Given the description of an element on the screen output the (x, y) to click on. 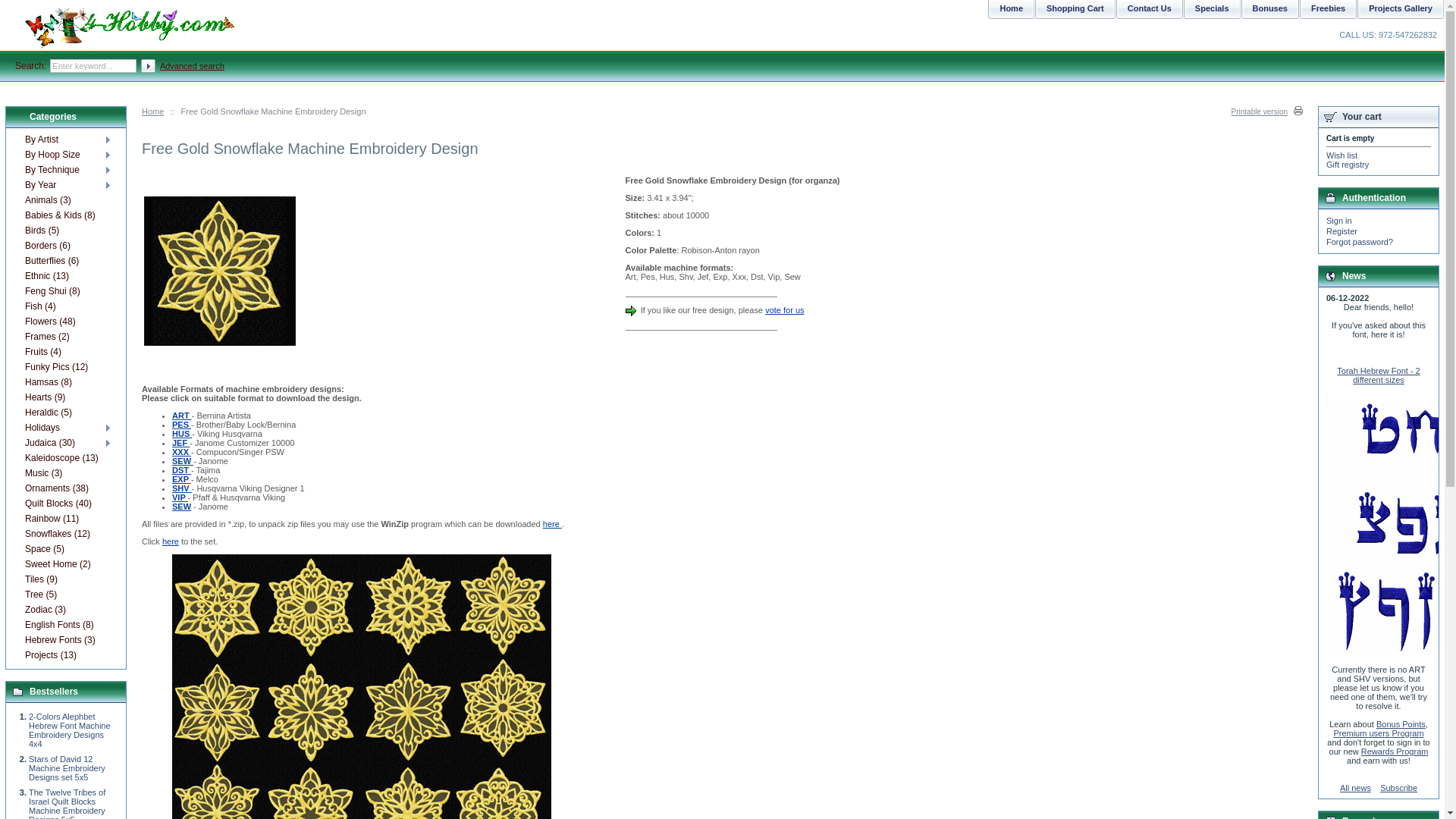
Fruits (4) Element type: text (65, 351)
Register Element type: text (1341, 230)
Music (3) Element type: text (65, 473)
Printable version Element type: text (1266, 111)
Sweet Home (2) Element type: text (65, 564)
Subscribe Element type: text (1398, 787)
Judaica (30) Element type: text (65, 442)
Contact Us Element type: text (1147, 13)
By Hoop Size Element type: text (65, 154)
Stars of David 12 Machine Embroidery Designs set 5x5 Element type: text (66, 767)
Tiles (9) Element type: text (65, 579)
Hearts (9) Element type: text (65, 397)
Home Element type: text (1009, 13)
PES Element type: text (181, 424)
Shopping Cart Element type: text (1073, 13)
Hamsas (8) Element type: text (65, 382)
Heraldic (5) Element type: text (65, 412)
Forgot password? Element type: text (1359, 241)
Freebies Element type: text (1325, 13)
Projects (13) Element type: text (65, 655)
Specials Element type: text (1209, 13)
EXP Element type: text (181, 478)
ART Element type: text (181, 415)
English Fonts (8) Element type: text (65, 624)
here Element type: text (551, 523)
Holidays Element type: text (65, 427)
Gift registry Element type: text (1347, 164)
Animals (3) Element type: text (65, 200)
Home Element type: text (152, 111)
SEW Element type: text (181, 506)
Frames (2) Element type: text (65, 336)
Zodiac (3) Element type: text (65, 609)
Funky Pics (12) Element type: text (65, 366)
HUS Element type: text (181, 433)
All news Element type: text (1355, 787)
Feng Shui (8) Element type: text (65, 291)
Torah Hebrew Font - 2 different sizes Element type: text (1377, 375)
Quilt Blocks (40) Element type: text (65, 503)
By Technique Element type: text (65, 169)
vote for us Element type: text (784, 309)
Ornaments (38) Element type: text (65, 488)
Premium users Program Element type: text (1378, 732)
VIP Element type: text (180, 497)
Wish list Element type: text (1341, 155)
Butterflies (6) Element type: text (65, 260)
Ethnic (13) Element type: text (65, 275)
Sign in Element type: text (1339, 220)
XXX Element type: text (181, 451)
Fish (4) Element type: text (65, 306)
Birds (5) Element type: text (65, 230)
SHV Element type: text (181, 487)
Rainbow (11) Element type: text (65, 518)
Space (5) Element type: text (65, 548)
JEF Element type: text (180, 442)
SEW Element type: text (182, 460)
Advanced search Element type: text (192, 65)
DST Element type: text (181, 469)
Borders (6) Element type: text (65, 245)
By Year Element type: text (65, 184)
Babies & Kids (8) Element type: text (65, 215)
Projects Gallery Element type: text (1398, 13)
Rewards Program Element type: text (1394, 751)
Bonus Points Element type: text (1400, 723)
Snowflakes (12) Element type: text (65, 533)
2-Colors Alephbet Hebrew Font Machine Embroidery Designs 4x4 Element type: text (69, 730)
here Element type: text (170, 541)
Bonuses Element type: text (1267, 13)
Flowers (48) Element type: text (65, 321)
Hebrew Fonts (3) Element type: text (65, 639)
Tree (5) Element type: text (65, 594)
Kaleidoscope (13) Element type: text (65, 457)
By Artist Element type: text (65, 139)
